Given the description of an element on the screen output the (x, y) to click on. 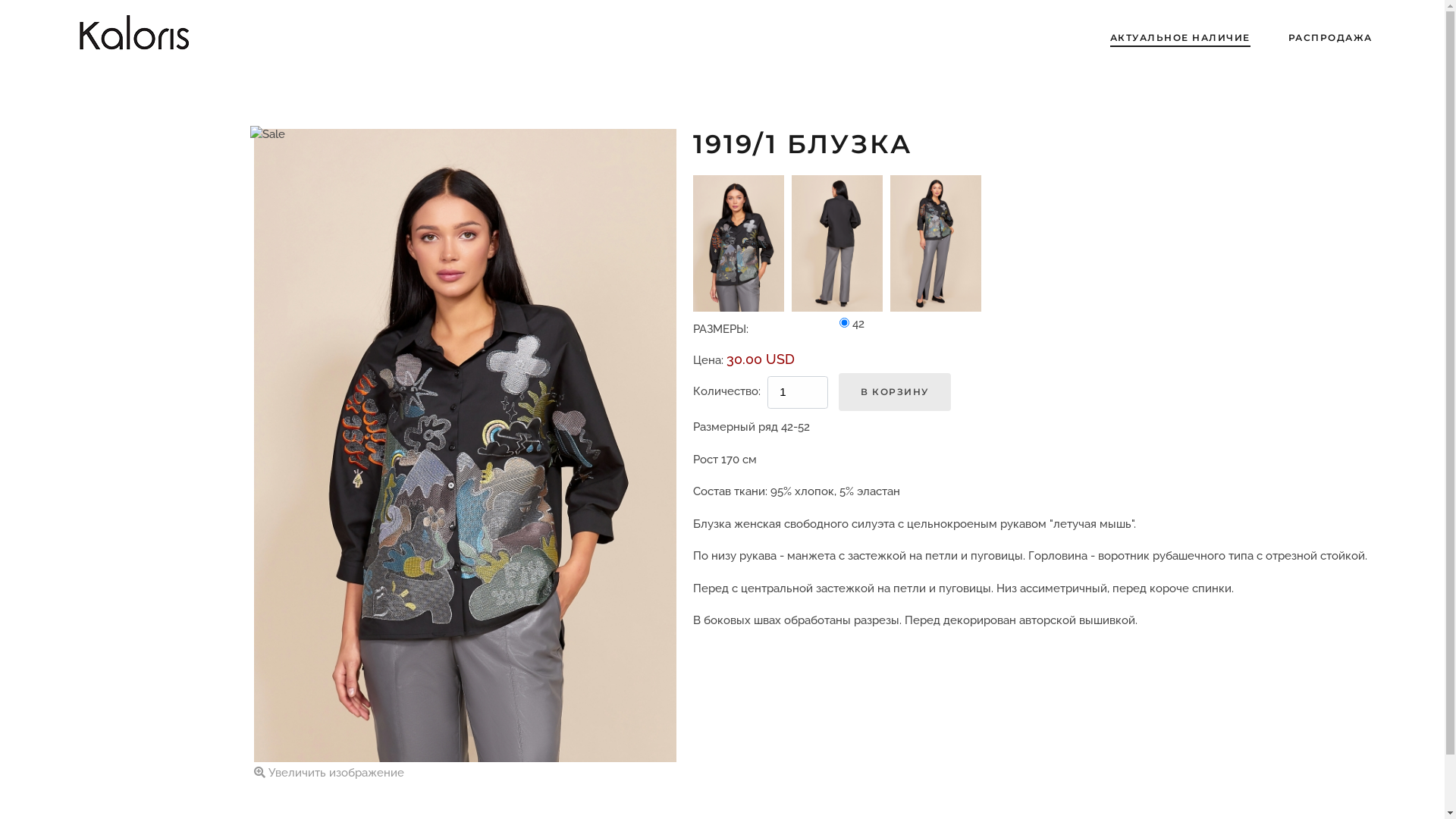
1 Element type: text (844, 322)
